Given the description of an element on the screen output the (x, y) to click on. 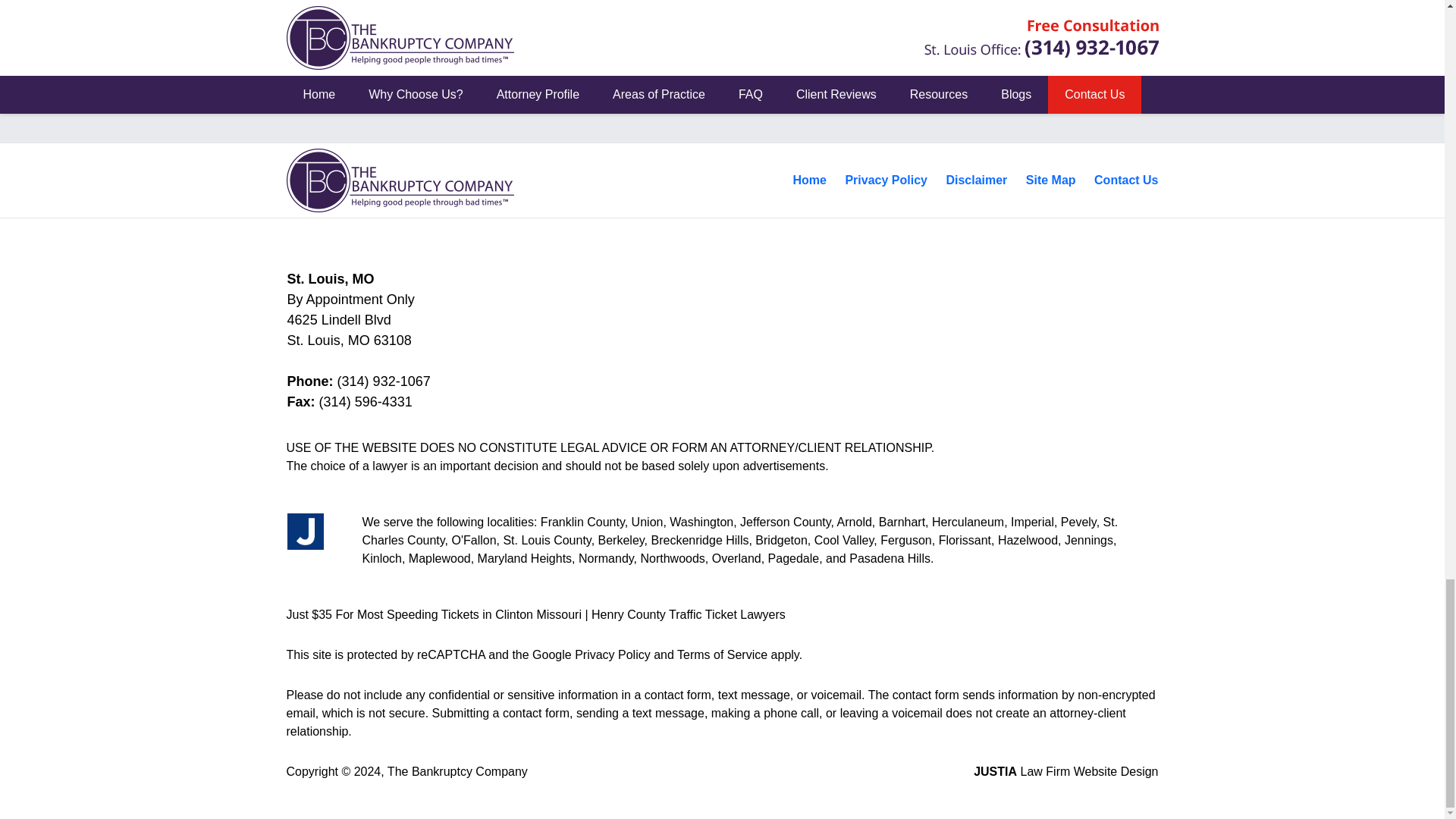
Justia (304, 531)
